Given the description of an element on the screen output the (x, y) to click on. 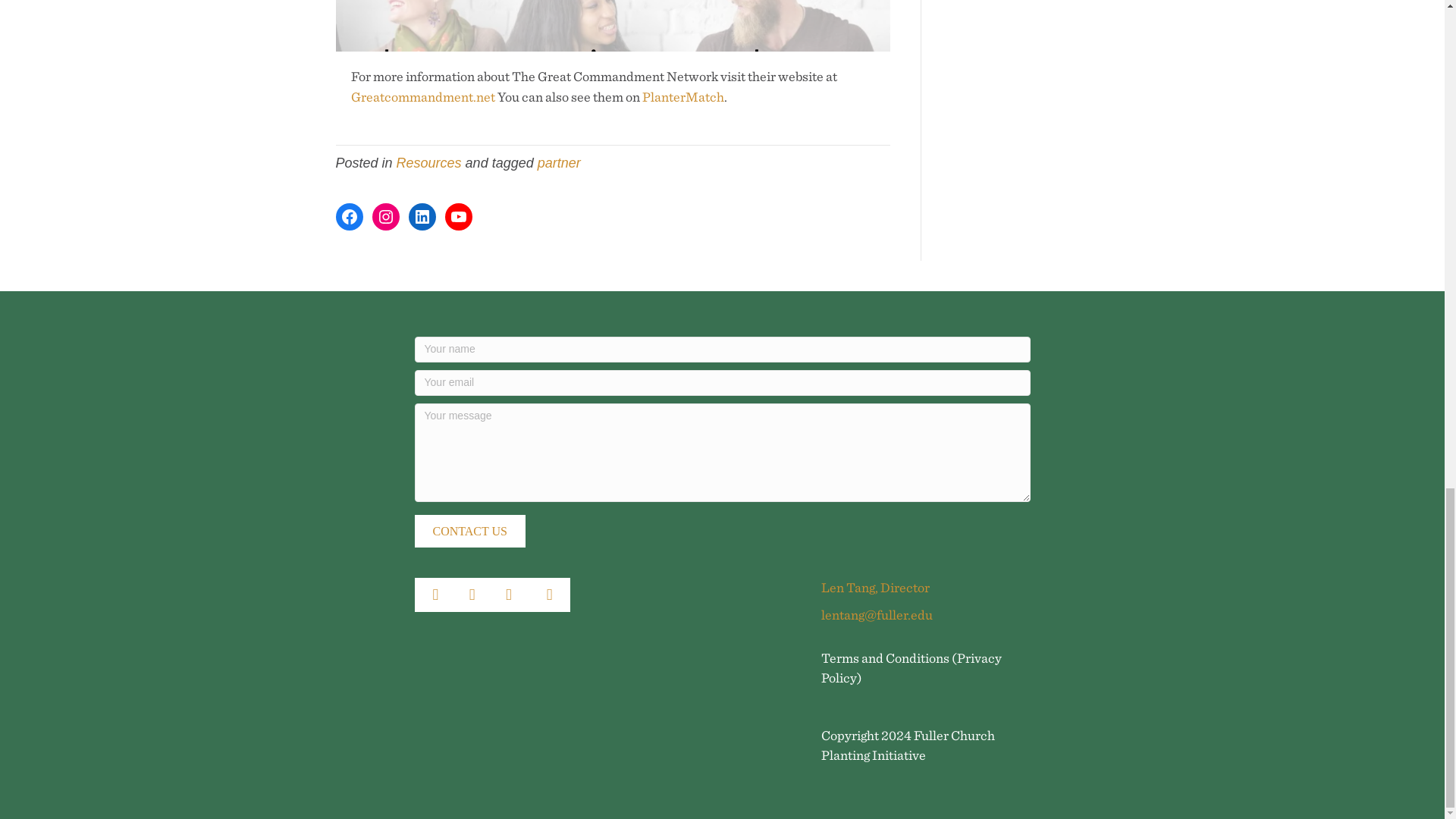
YouTube (457, 216)
LinkedIn (421, 216)
Instagram (384, 216)
Resources (428, 162)
CONTACT US (468, 531)
Greatcommandment.net (422, 96)
PlanterMatch (682, 96)
great-commandement-network (611, 26)
Facebook (348, 216)
partner (558, 162)
